Given the description of an element on the screen output the (x, y) to click on. 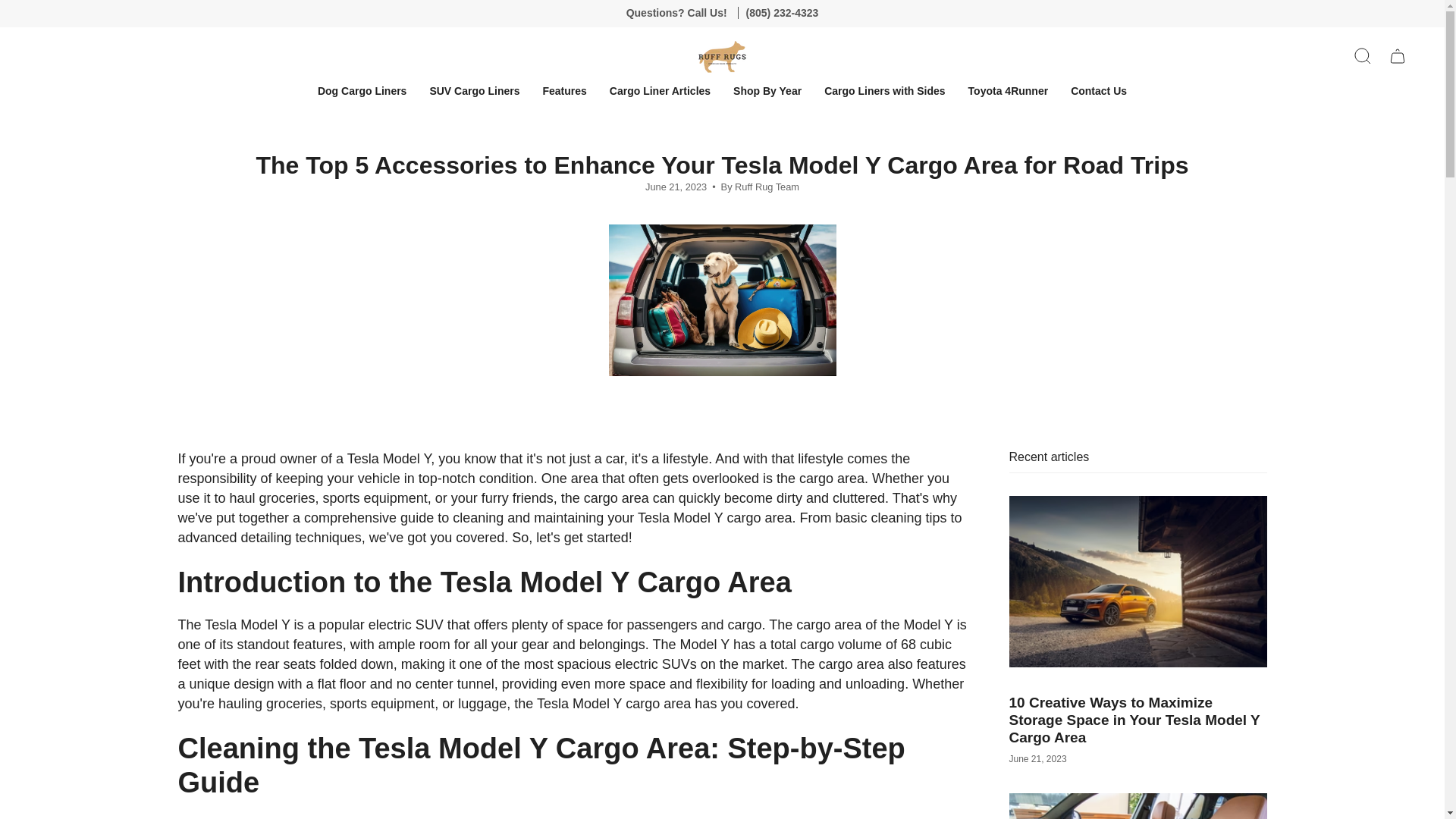
SUV Cargo Liners (474, 90)
Dog Cargo Liners (361, 90)
Search (1362, 55)
Cart (1397, 55)
Cart (1397, 55)
